Given the description of an element on the screen output the (x, y) to click on. 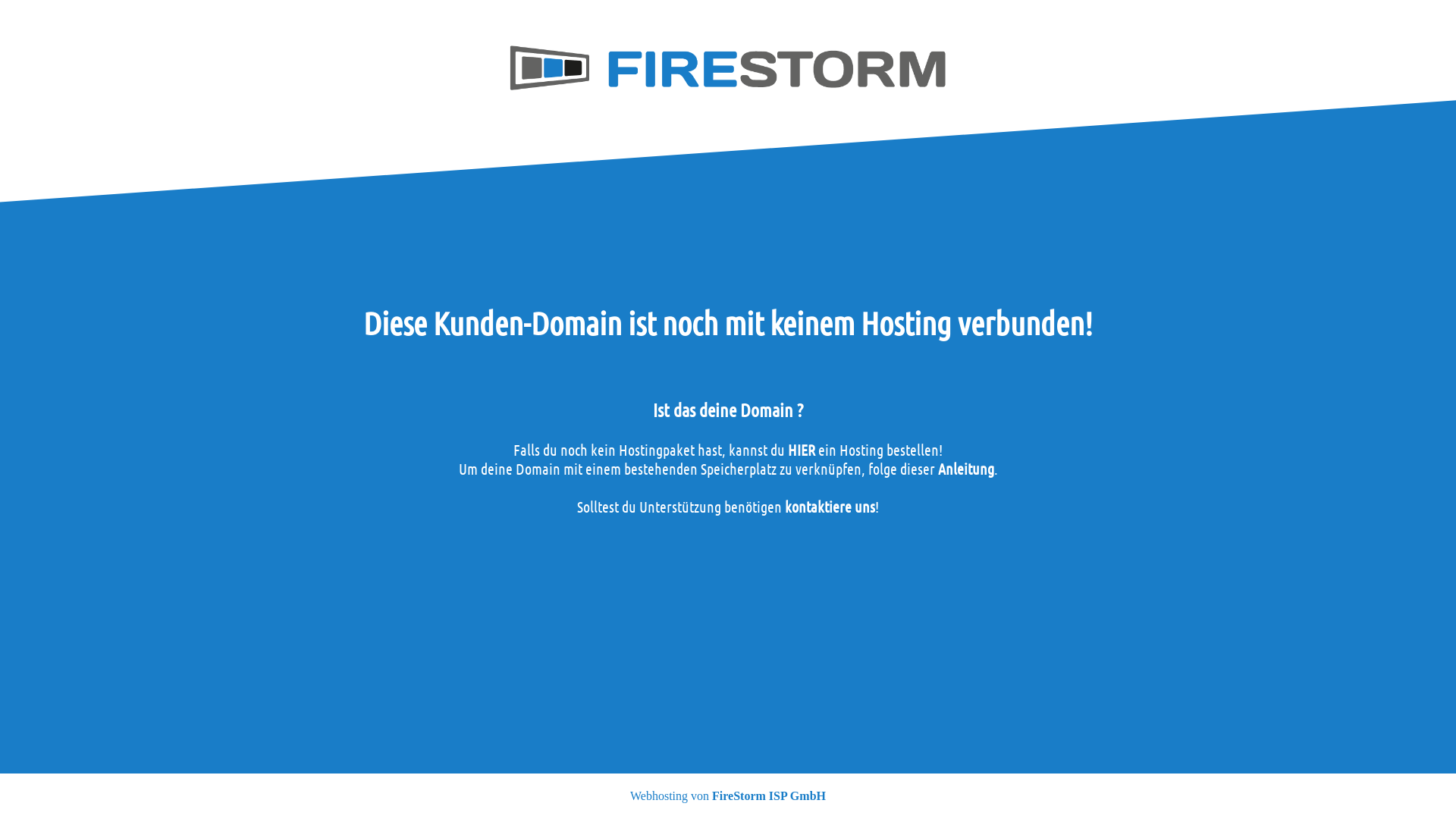
HIER Element type: text (801, 449)
FireStorm ISP GmbH Element type: text (768, 795)
kontaktiere uns Element type: text (829, 506)
Anleitung Element type: text (965, 468)
